Given the description of an element on the screen output the (x, y) to click on. 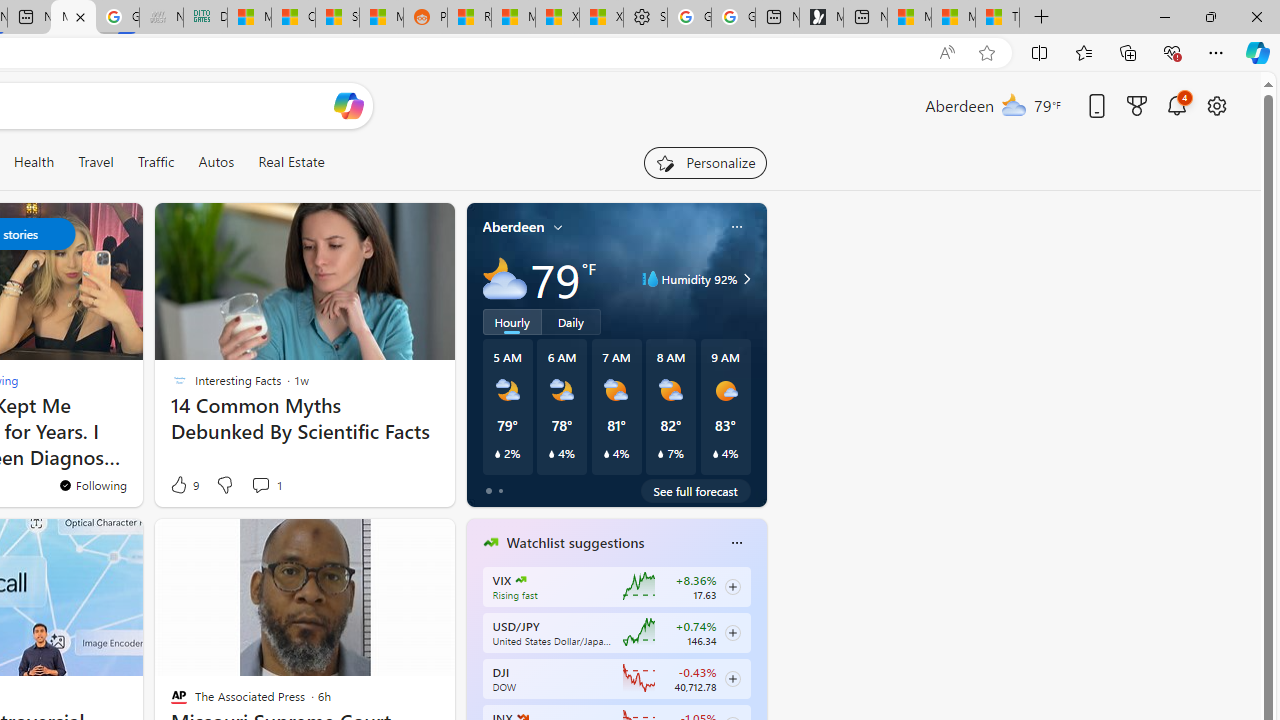
See full forecast (695, 490)
tab-1 (500, 490)
Class: follow-button  m (732, 678)
DITOGAMES AG Imprint (205, 17)
Health (33, 162)
Travel (95, 161)
Navy Quest (161, 17)
Microsoft rewards (1137, 105)
Watchlist suggestions (575, 543)
